Given the description of an element on the screen output the (x, y) to click on. 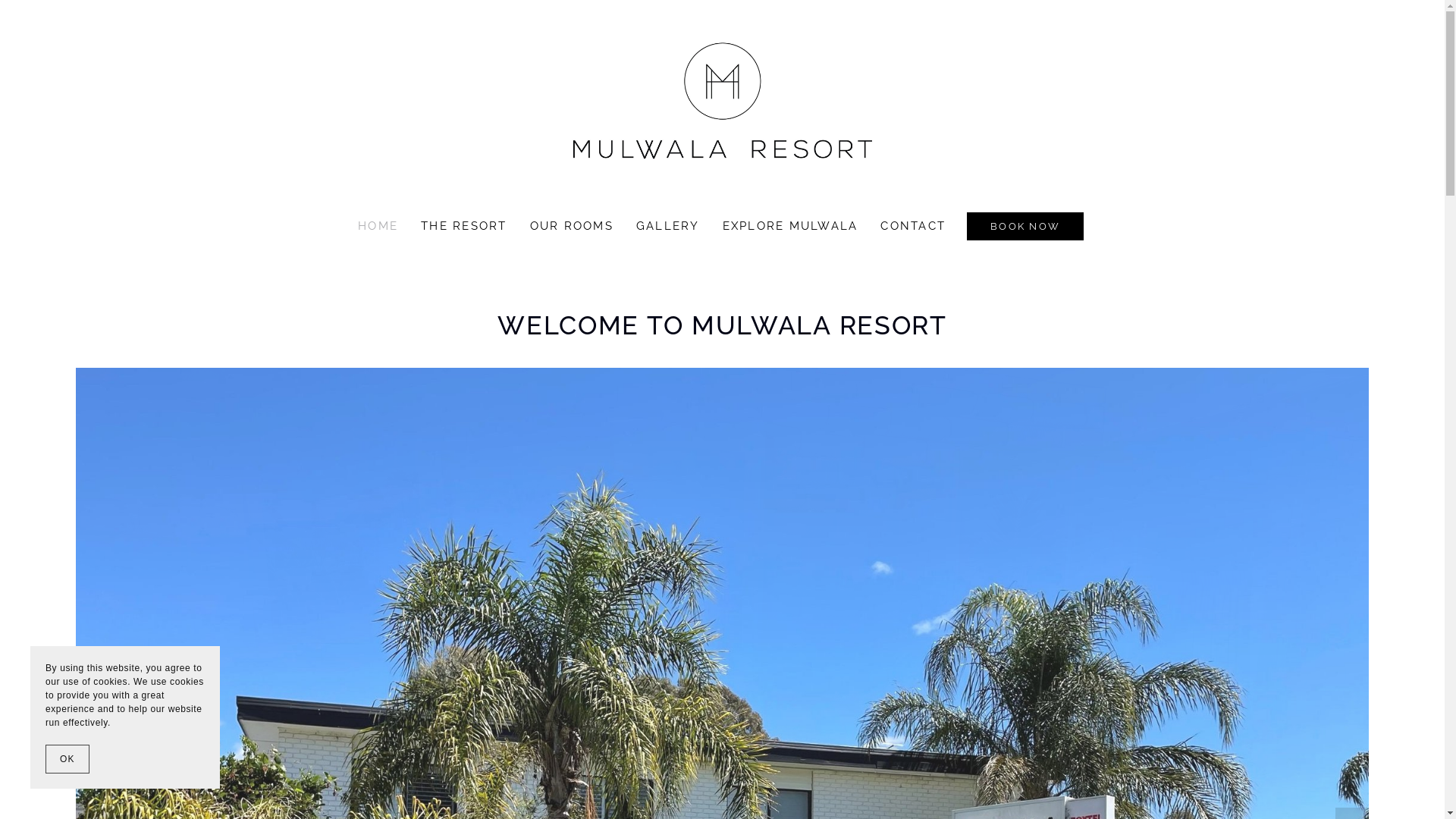
HOME Element type: text (377, 226)
GALLERY Element type: text (667, 226)
EXPLORE MULWALA Element type: text (789, 226)
THE RESORT Element type: text (463, 225)
BOOK NOW Element type: text (1024, 226)
OUR ROOMS Element type: text (570, 226)
OK Element type: text (67, 758)
CONTACT Element type: text (912, 226)
